Given the description of an element on the screen output the (x, y) to click on. 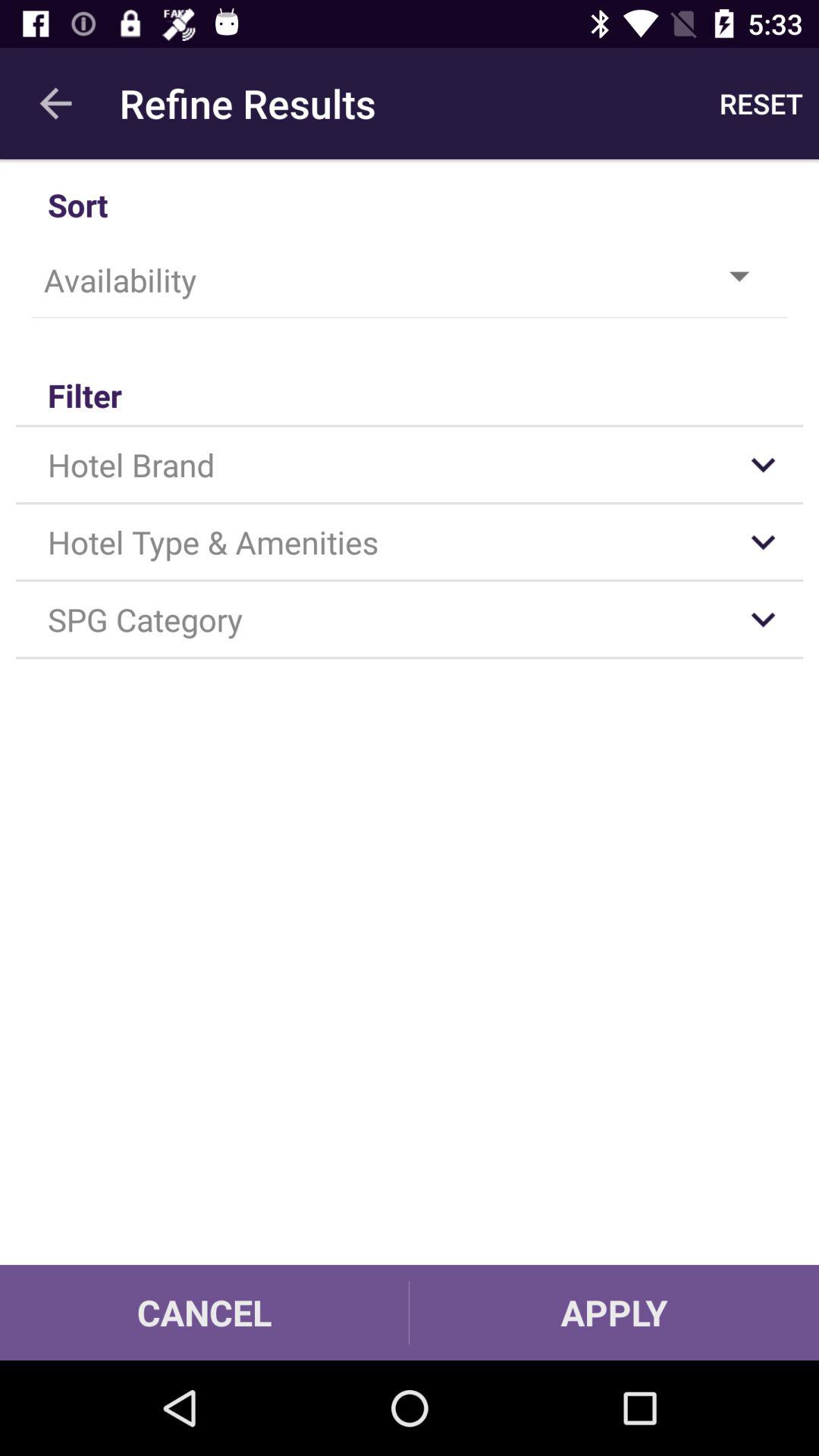
choose app to the left of refine results item (55, 103)
